Given the description of an element on the screen output the (x, y) to click on. 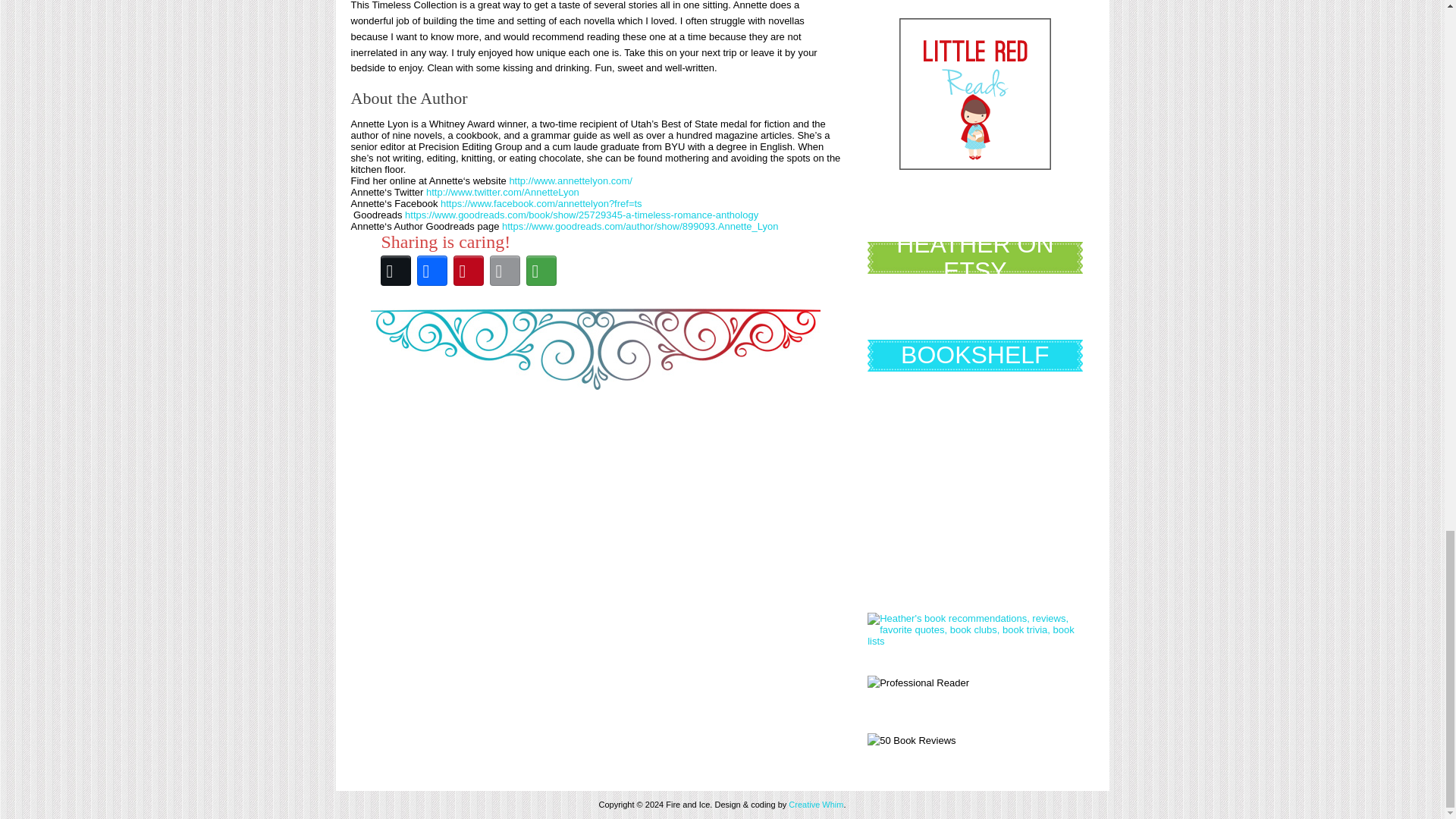
50 Book Reviews (911, 741)
More Options (540, 270)
Professional Reader (918, 683)
Facebook (431, 270)
Email This (504, 270)
Pinterest (467, 270)
